Given the description of an element on the screen output the (x, y) to click on. 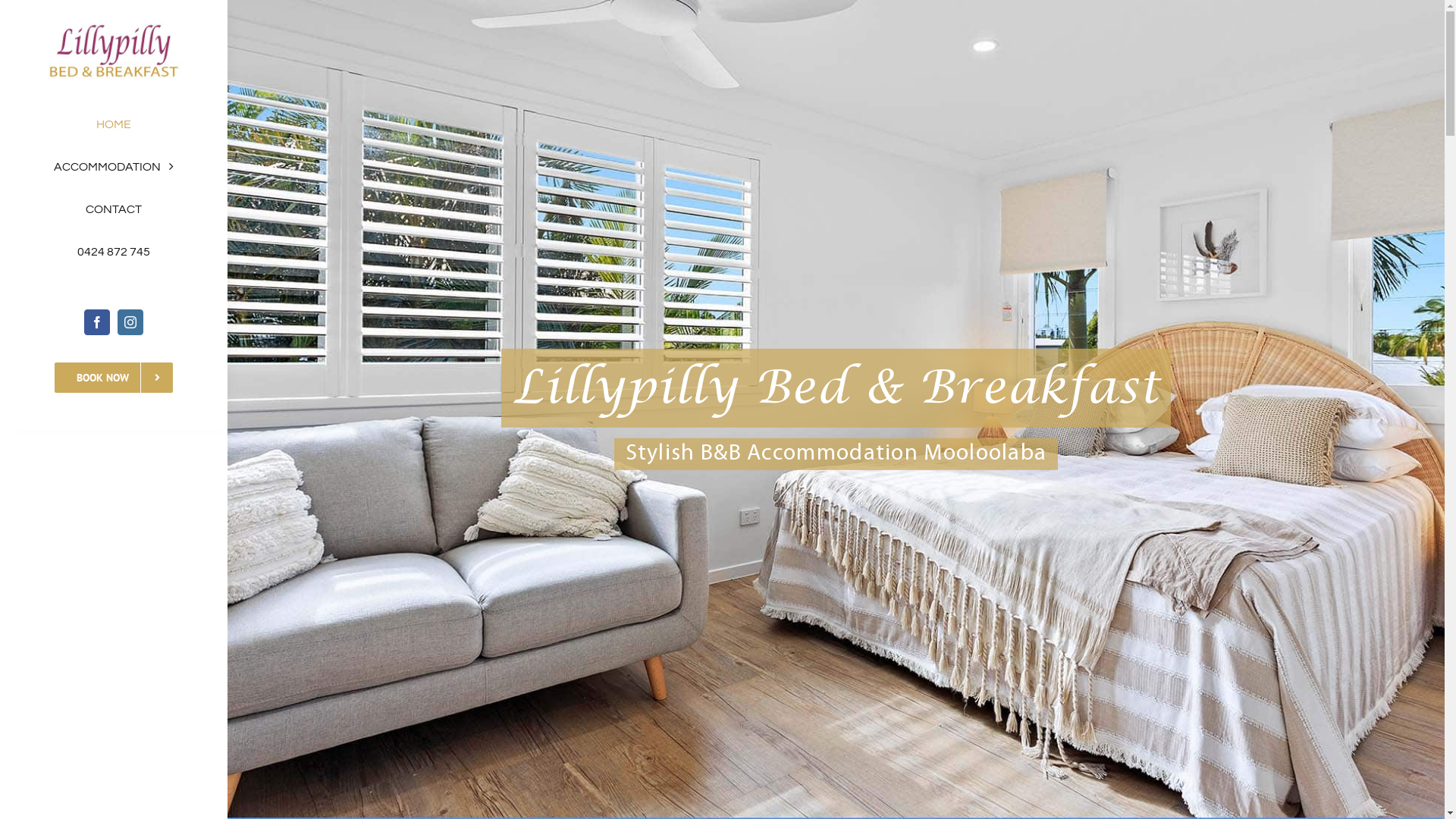
0424 872 745 Element type: text (113, 251)
CONTACT Element type: text (113, 209)
ACCOMMODATION Element type: text (113, 166)
HOME Element type: text (113, 124)
BOOK NOW Element type: text (113, 377)
